Given the description of an element on the screen output the (x, y) to click on. 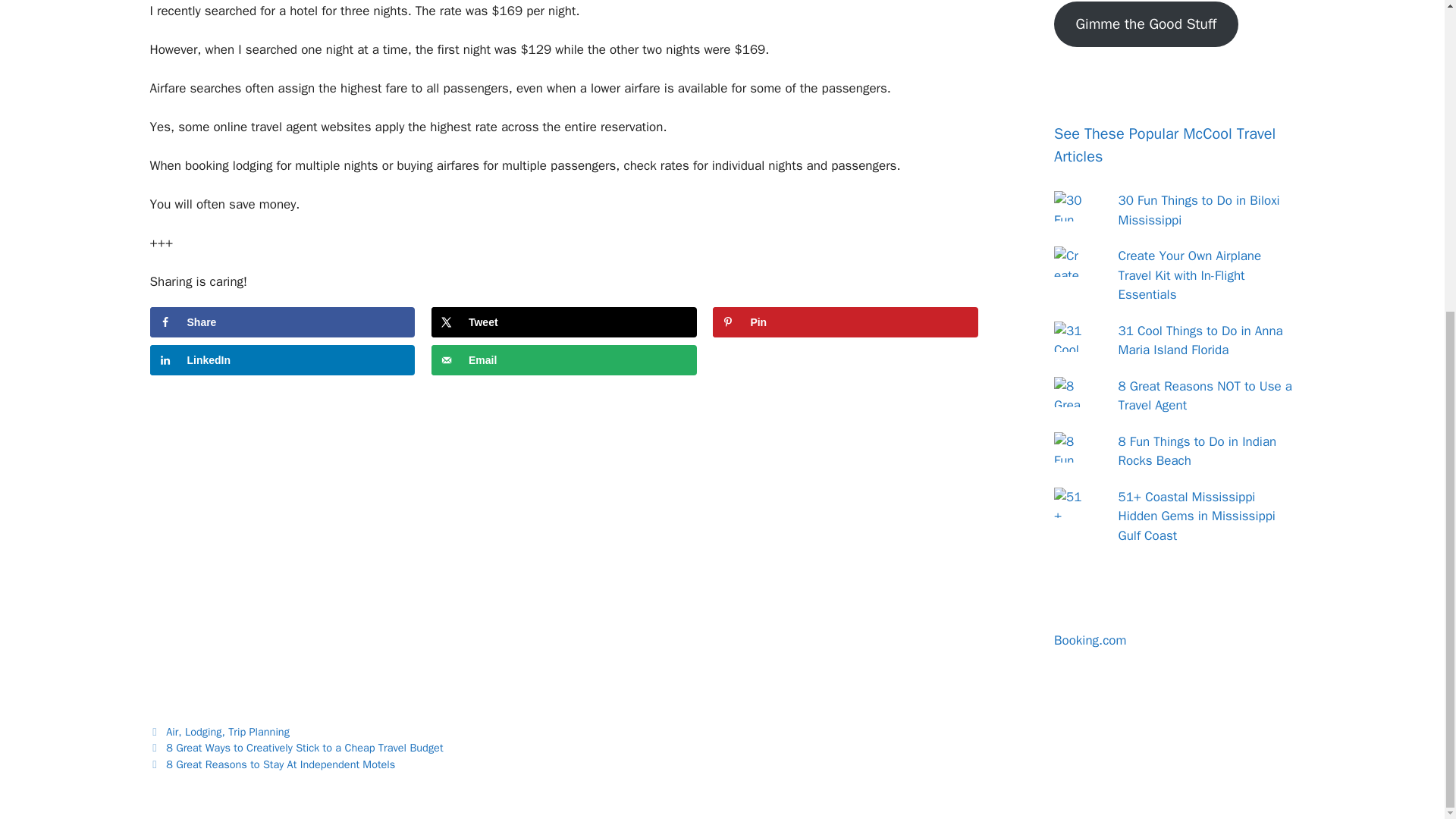
31 Cool Things to Do in Anna Maria Island Florida (1200, 340)
Share on X (563, 322)
Send over email (563, 359)
Share on LinkedIn (281, 359)
30 Fun Things to Do in Biloxi Mississippi (1198, 210)
Save to Pinterest (845, 322)
Share on Facebook (281, 322)
